Given the description of an element on the screen output the (x, y) to click on. 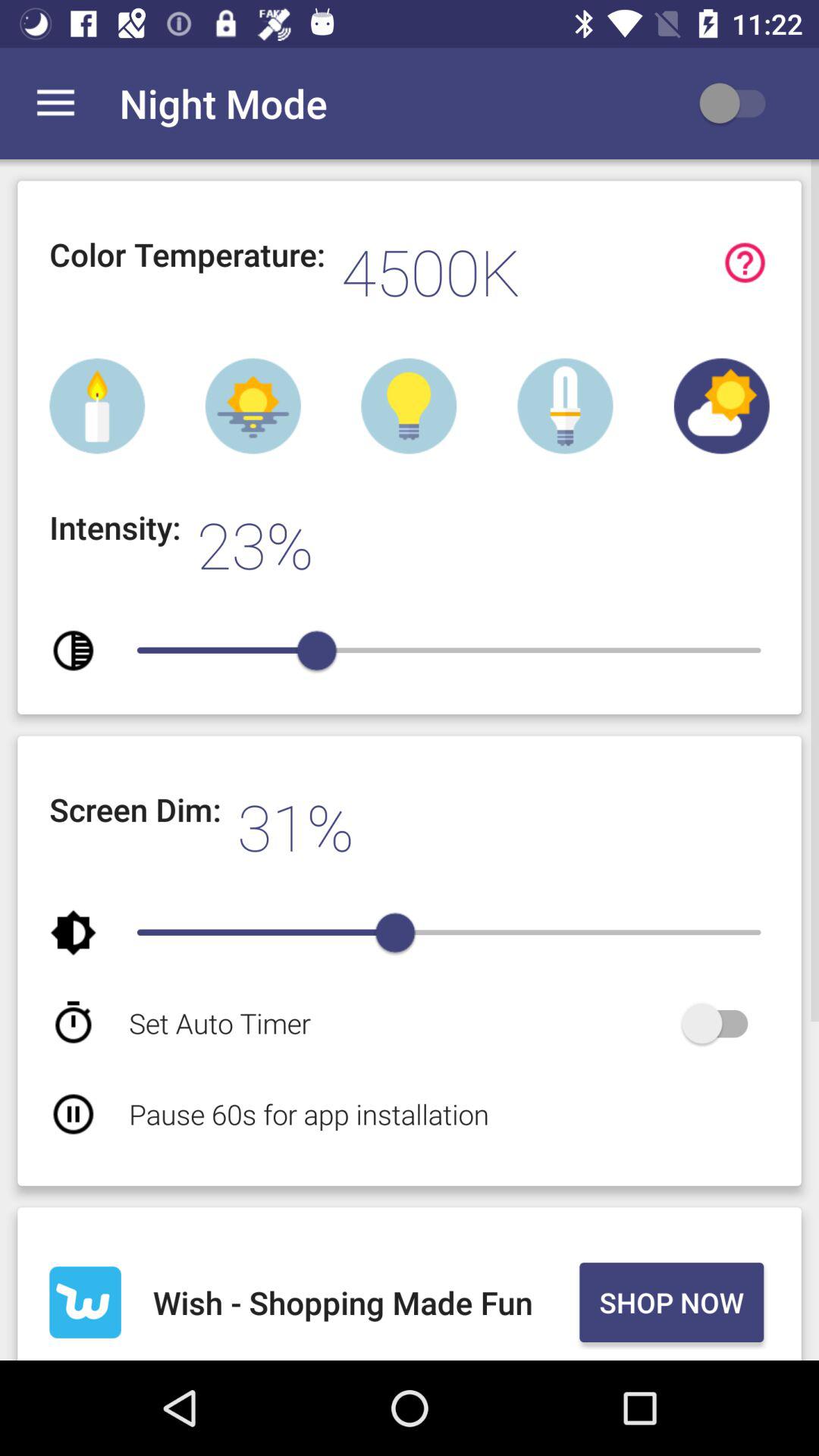
swipe until the shop now icon (671, 1302)
